Given the description of an element on the screen output the (x, y) to click on. 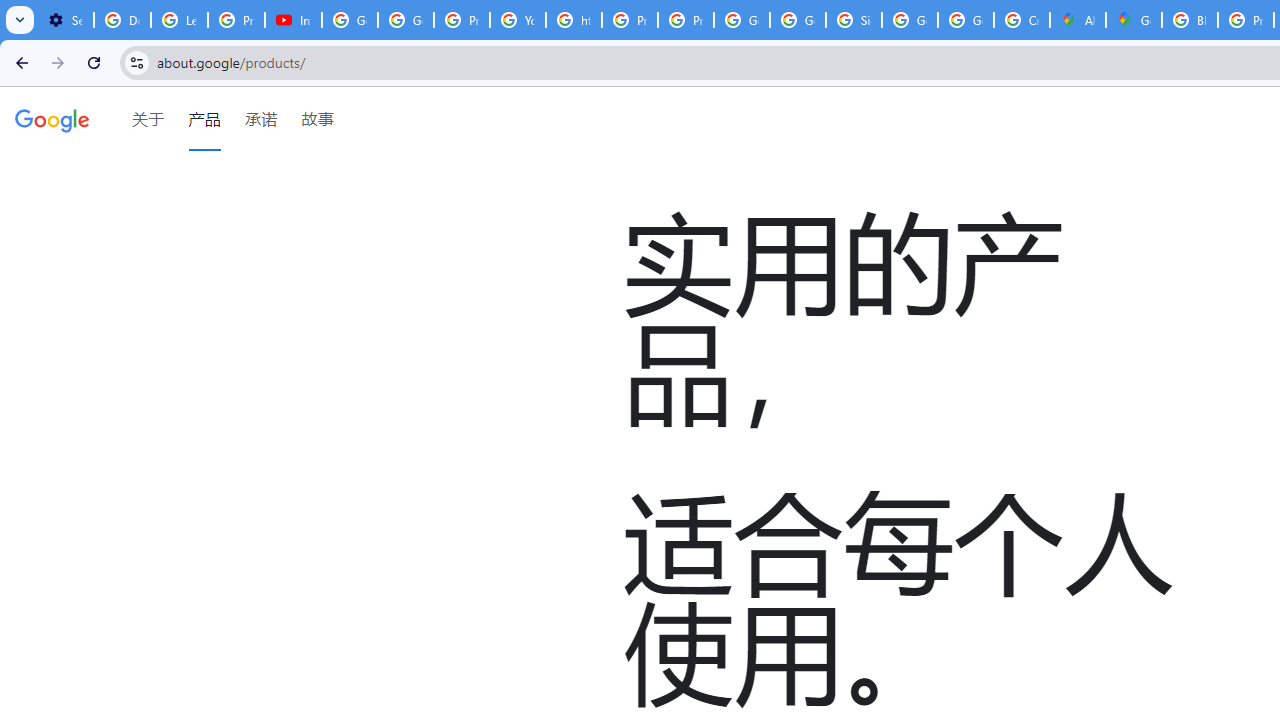
Create your Google Account (1021, 20)
Google Account Help (349, 20)
Privacy Help Center - Policies Help (461, 20)
